Given the description of an element on the screen output the (x, y) to click on. 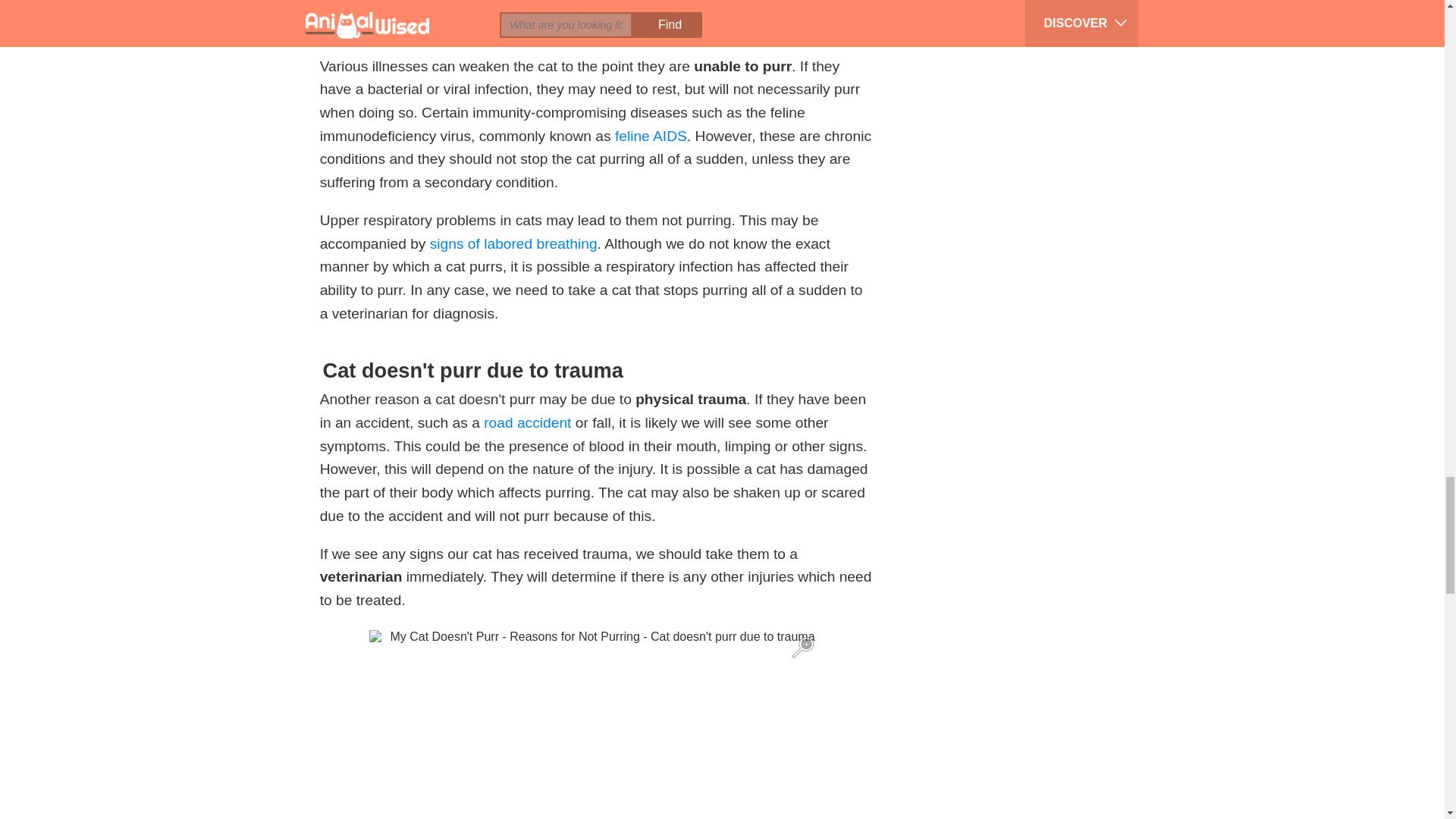
road accident (526, 422)
signs of labored breathing (512, 243)
feline AIDS (650, 135)
